Given the description of an element on the screen output the (x, y) to click on. 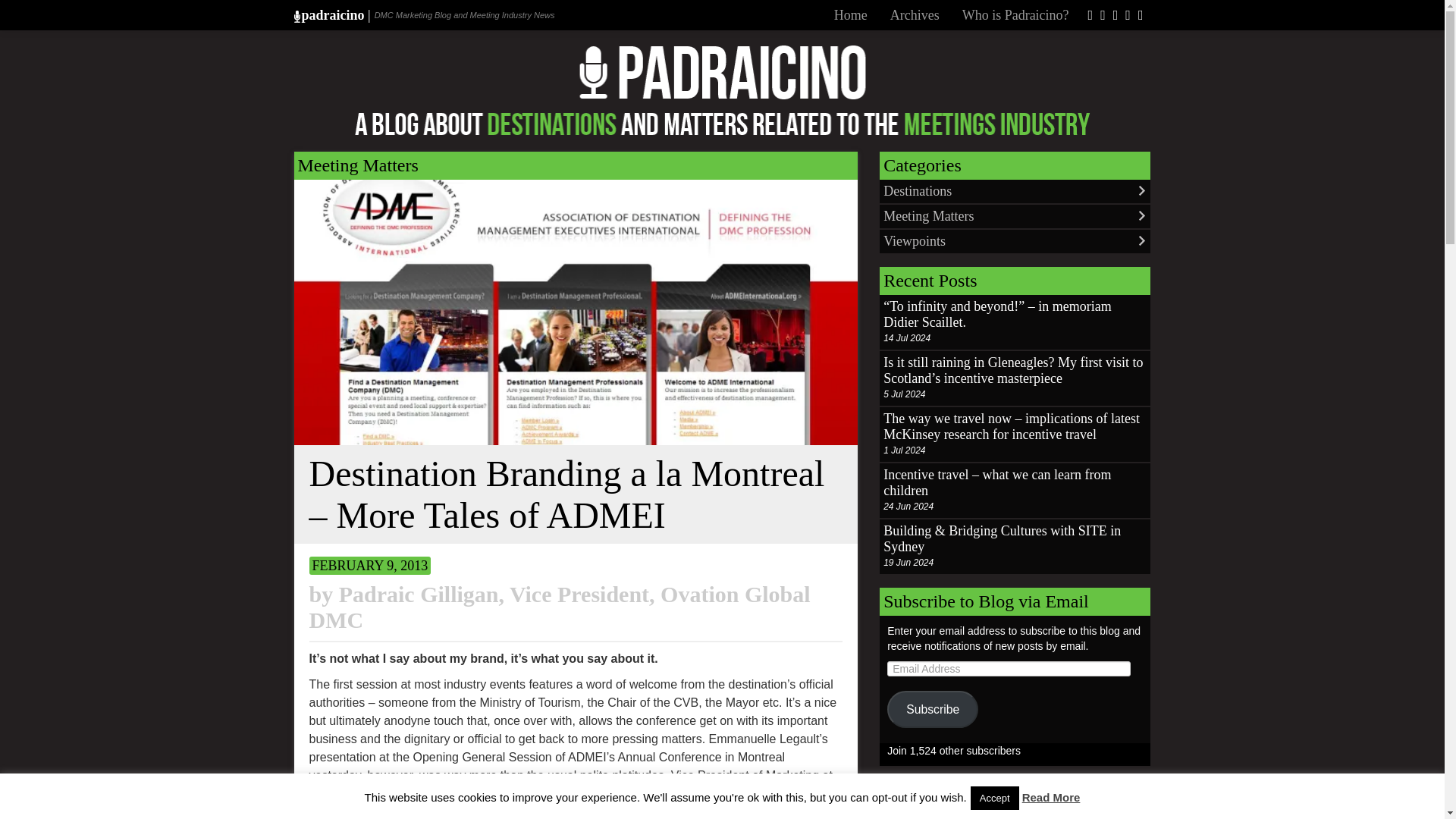
DMC Marketing Blog and Meeting Industry News (326, 15)
Home (850, 15)
Homepage (850, 15)
Meeting Matters (357, 165)
Who is Padraicino? (1015, 15)
Destinations (1014, 191)
Archives (914, 15)
